Given the description of an element on the screen output the (x, y) to click on. 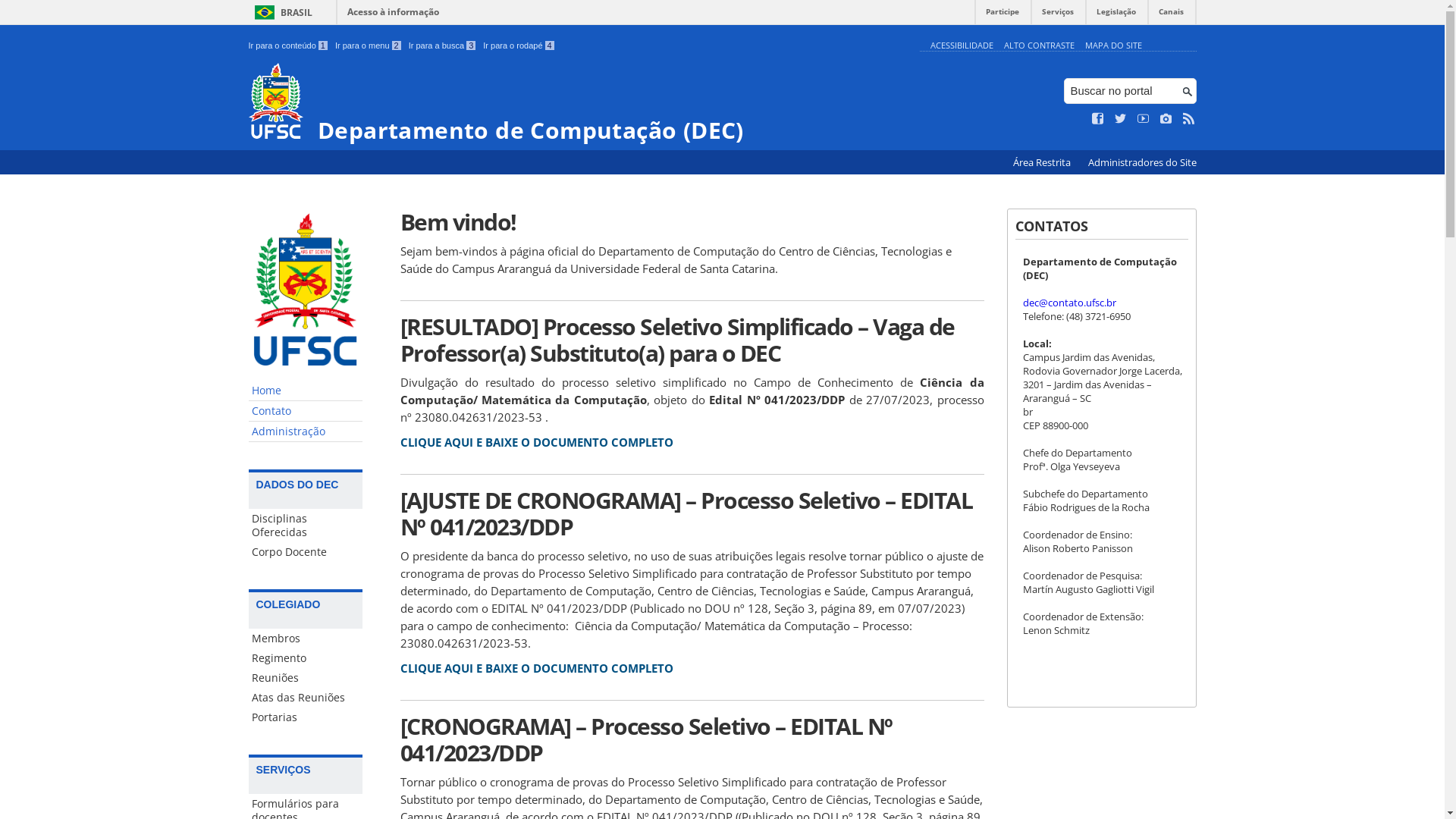
Bem vindo! Element type: text (692, 221)
Disciplinas Oferecidas Element type: text (305, 525)
Curta no Facebook Element type: hover (1098, 118)
Participe Element type: text (1002, 15)
Ir para o menu 2 Element type: text (368, 45)
CLIQUE AQUI E BAIXE O DOCUMENTO COMPLETO Element type: text (536, 441)
BRASIL Element type: text (280, 12)
MAPA DO SITE Element type: text (1112, 44)
Administradores do Site Element type: text (1141, 162)
Home Element type: text (305, 390)
Veja no Instagram Element type: hover (1166, 118)
Corpo Docente Element type: text (305, 551)
CLIQUE AQUI E BAIXE O DOCUMENTO COMPLETO Element type: text (536, 667)
Membros Element type: text (305, 638)
Canais Element type: text (1171, 15)
Contato Element type: text (305, 411)
dec@contato.ufsc.br Element type: text (1068, 302)
Ir para a busca 3 Element type: text (442, 45)
Siga no Twitter Element type: hover (1120, 118)
Portarias Element type: text (305, 717)
ALTO CONTRASTE Element type: text (1039, 44)
ACESSIBILIDADE Element type: text (960, 44)
Regimento Element type: text (305, 658)
